Given the description of an element on the screen output the (x, y) to click on. 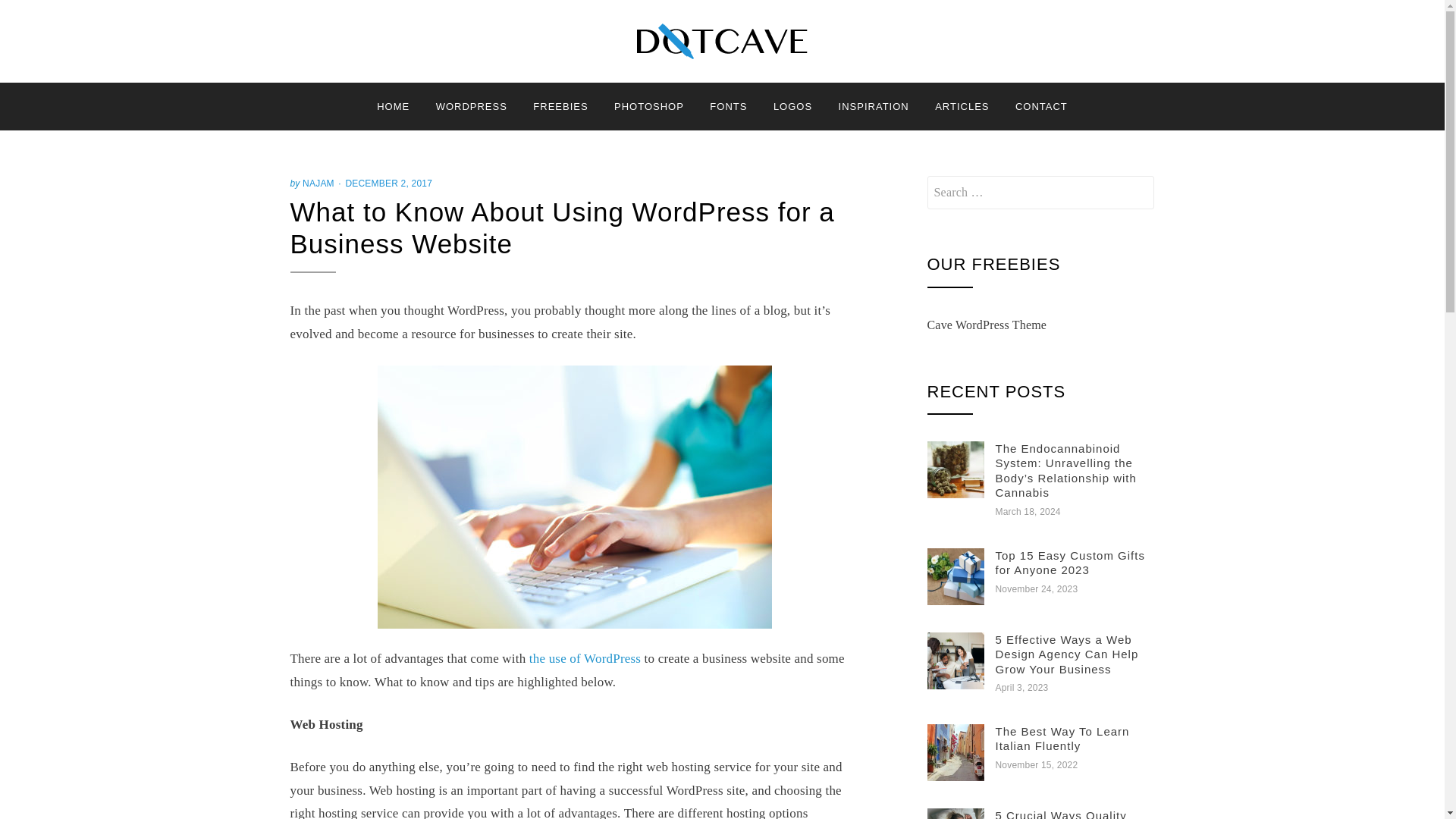
LOGOS (792, 106)
Top 15 Easy Custom Gifts for Anyone 2023 (1069, 562)
PHOTOSHOP (648, 106)
ARTICLES (961, 106)
FREEBIES (559, 106)
Search (51, 18)
NAJAM (318, 183)
DOTCAVE (372, 77)
